Given the description of an element on the screen output the (x, y) to click on. 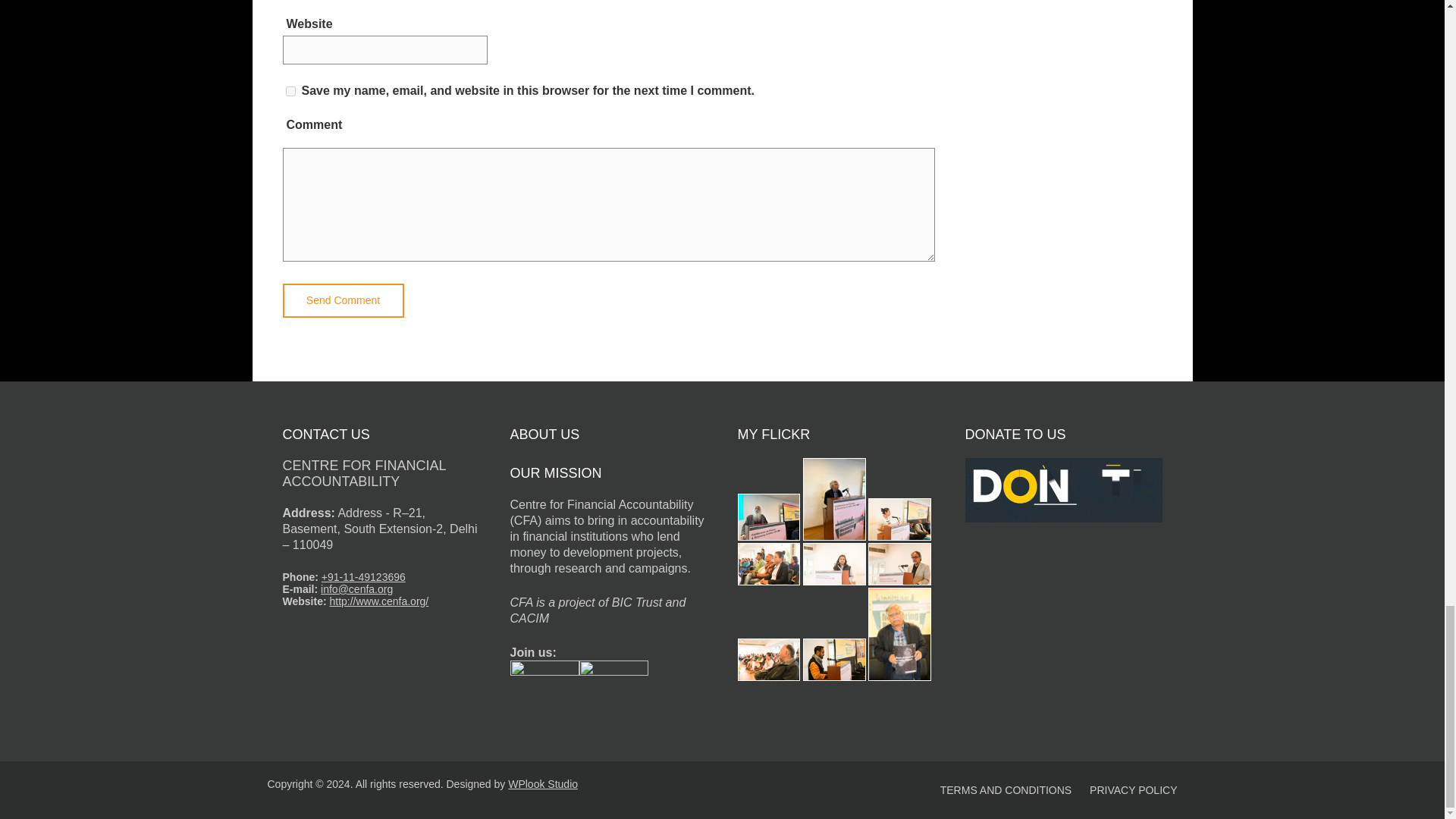
Send Comment (342, 300)
yes (290, 91)
